Given the description of an element on the screen output the (x, y) to click on. 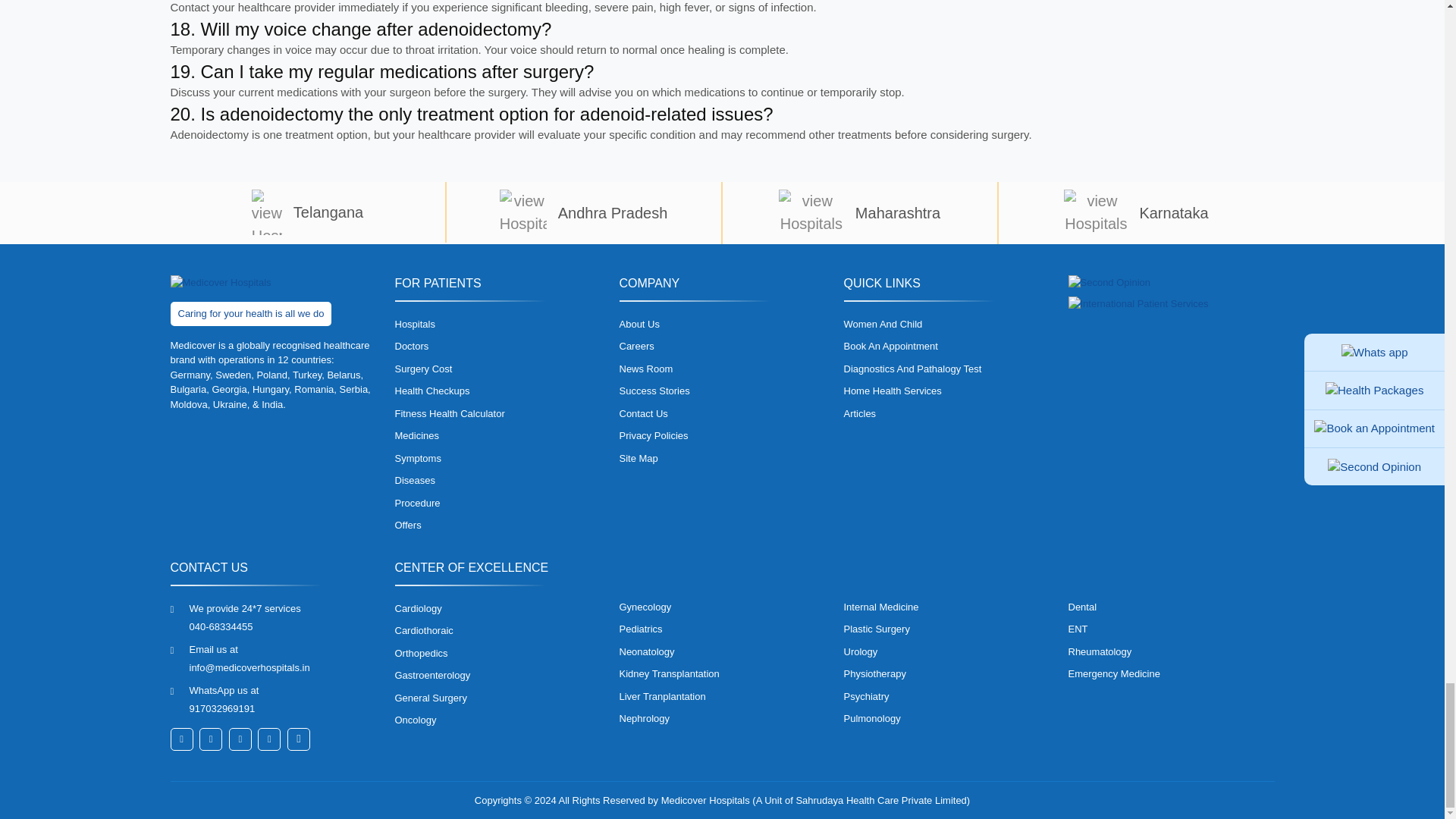
Like us on Facebook (181, 739)
Watch us on Youtube (298, 739)
Follow us on Instagram (269, 739)
Tweet us on Twitter (210, 739)
Follow us on Linkedin (239, 739)
